Given the description of an element on the screen output the (x, y) to click on. 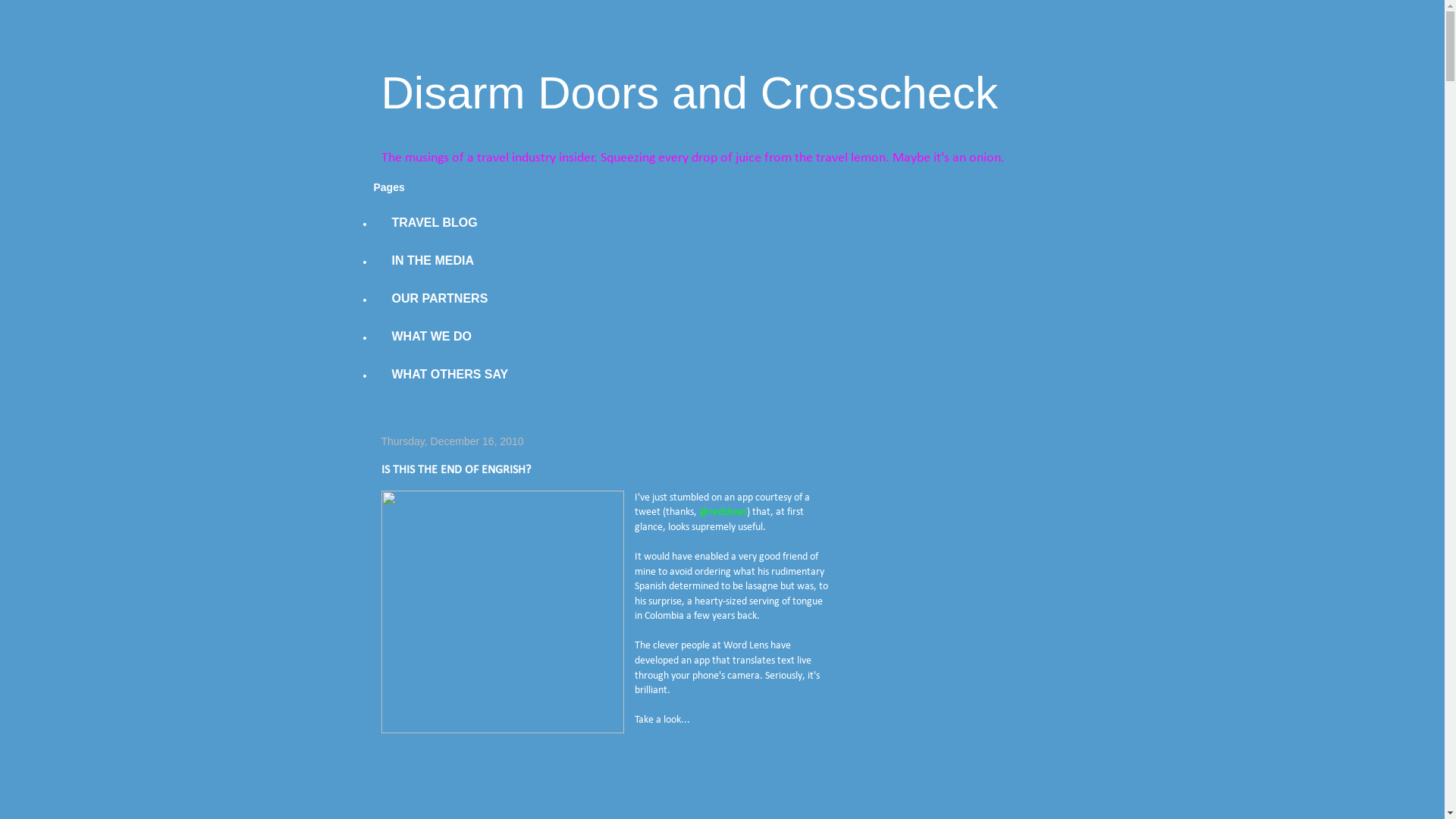
OUR PARTNERS Element type: text (439, 298)
Disarm Doors and Crosscheck Element type: text (688, 92)
WHAT WE DO Element type: text (431, 336)
@redshoes Element type: text (722, 511)
TRAVEL BLOG Element type: text (434, 222)
WHAT OTHERS SAY Element type: text (449, 374)
IN THE MEDIA Element type: text (432, 260)
